Given the description of an element on the screen output the (x, y) to click on. 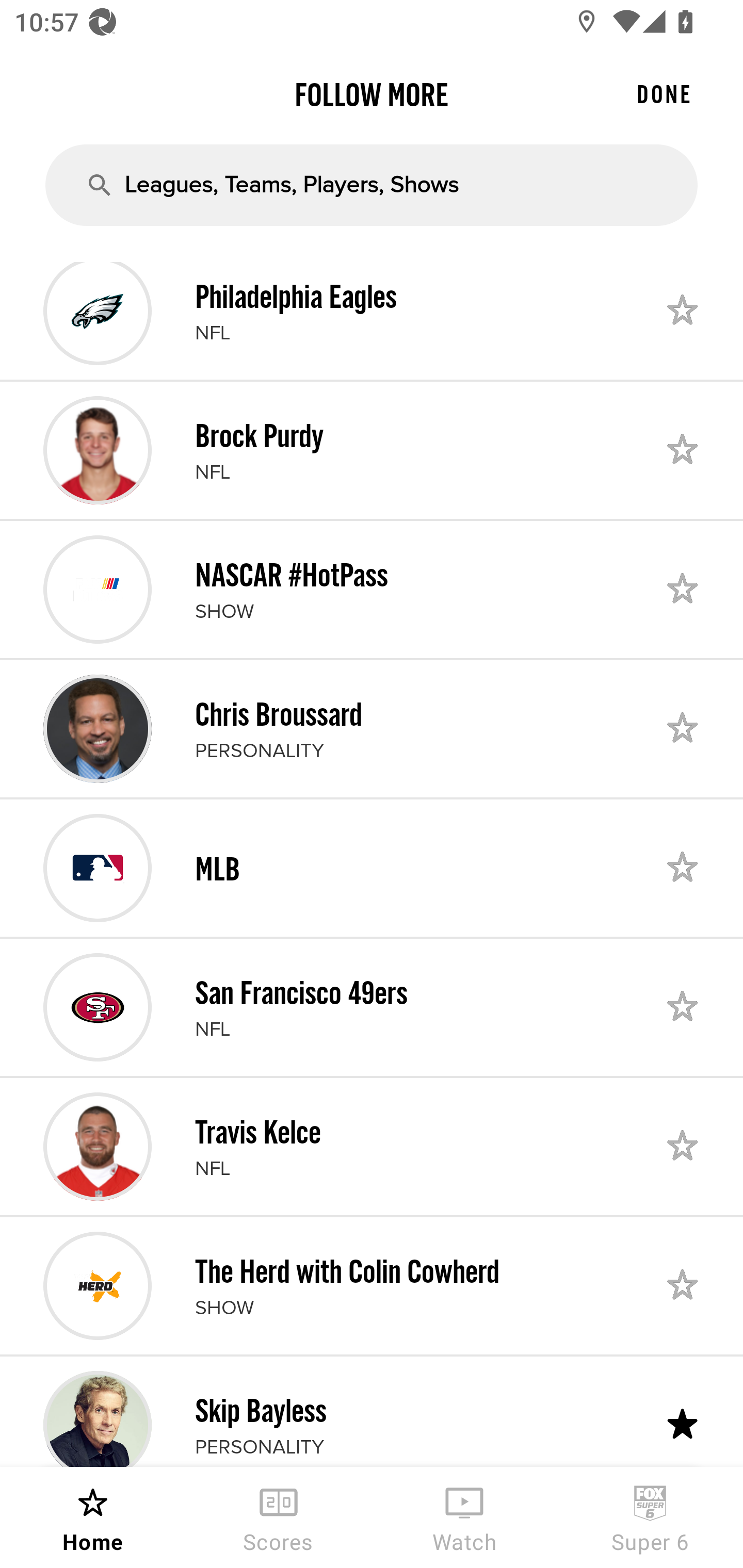
DONE (663, 93)
Leagues, Teams, Players, Shows (371, 184)
Philadelphia Eagles NFL (371, 320)
Brock Purdy NFL (371, 450)
NASCAR #HotPass SHOW (371, 589)
Chris Broussard PERSONALITY (371, 729)
MLB (371, 867)
San Francisco 49ers NFL (371, 1007)
Travis Kelce NFL (371, 1146)
The Herd with Colin Cowherd SHOW (371, 1285)
Skip Bayless PERSONALITY (371, 1411)
Scores (278, 1517)
Watch (464, 1517)
Super 6 (650, 1517)
